Given the description of an element on the screen output the (x, y) to click on. 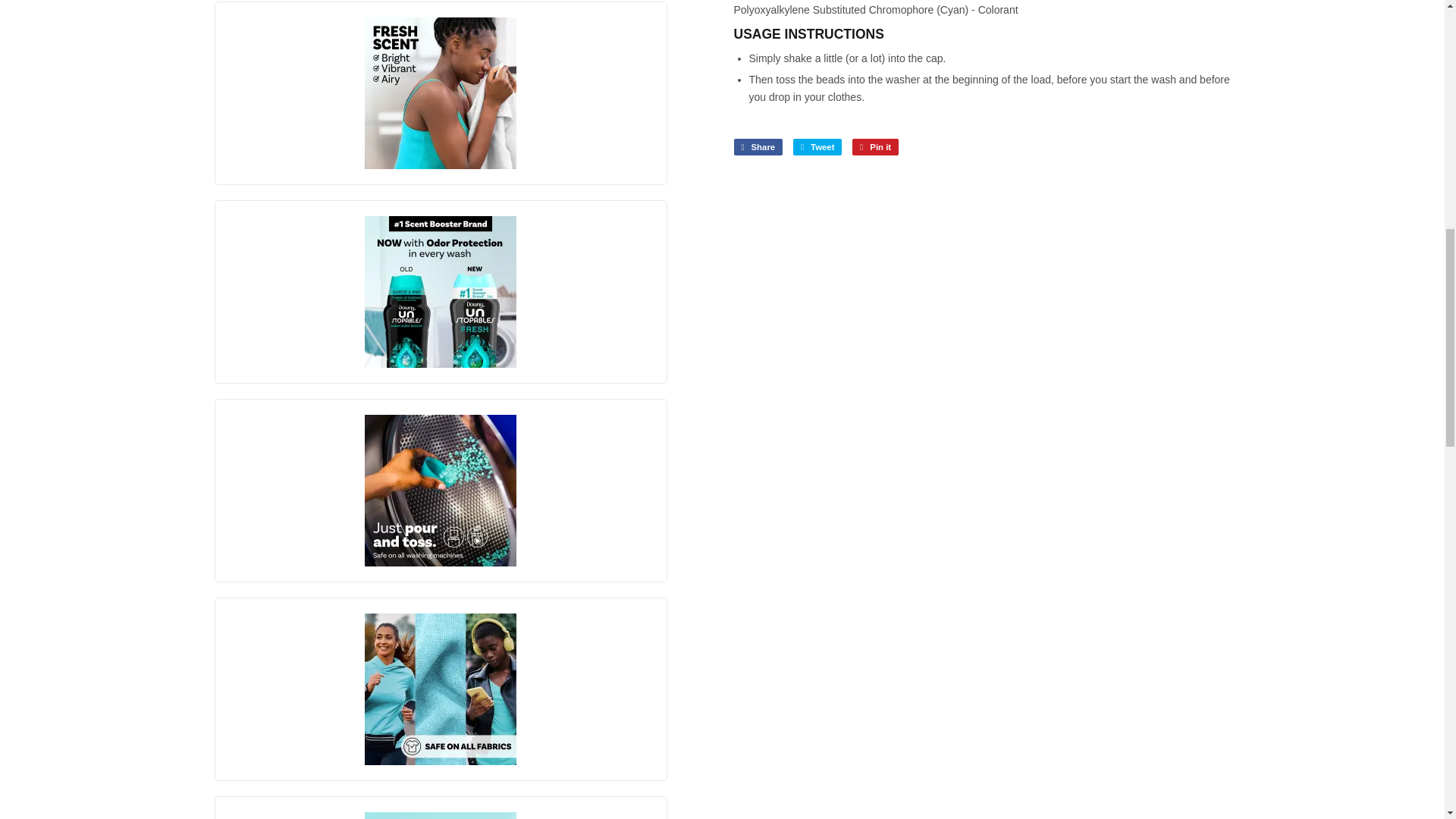
Open Product Zoom (441, 291)
Tweet on Twitter (817, 146)
Open Product Zoom (441, 815)
Open Product Zoom (441, 92)
Pin on Pinterest (874, 146)
Open Product Zoom (441, 490)
Share on Facebook (758, 146)
Open Product Zoom (441, 688)
